Given the description of an element on the screen output the (x, y) to click on. 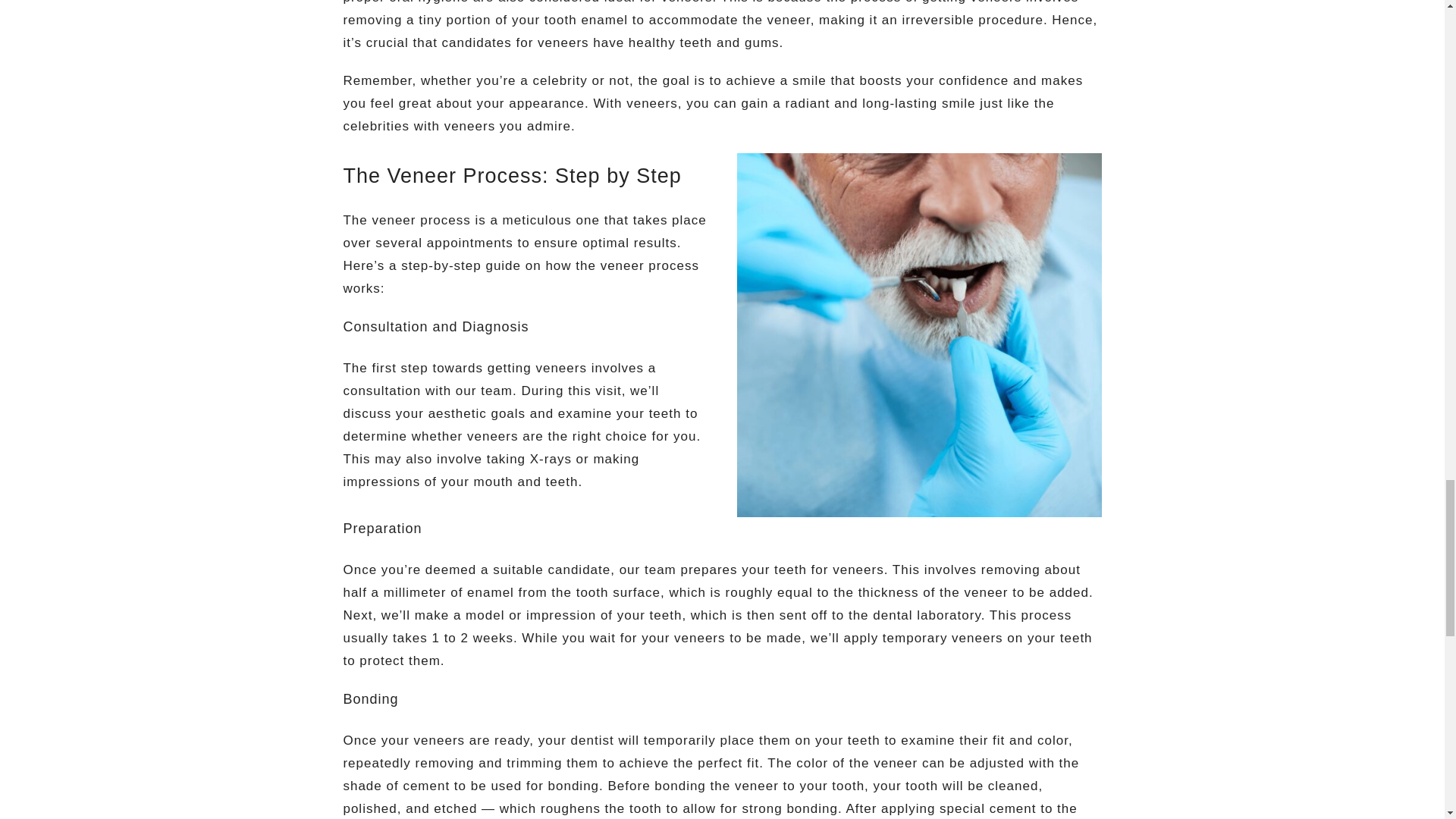
elderly gentleman getting fitted for veneers (918, 334)
